Given the description of an element on the screen output the (x, y) to click on. 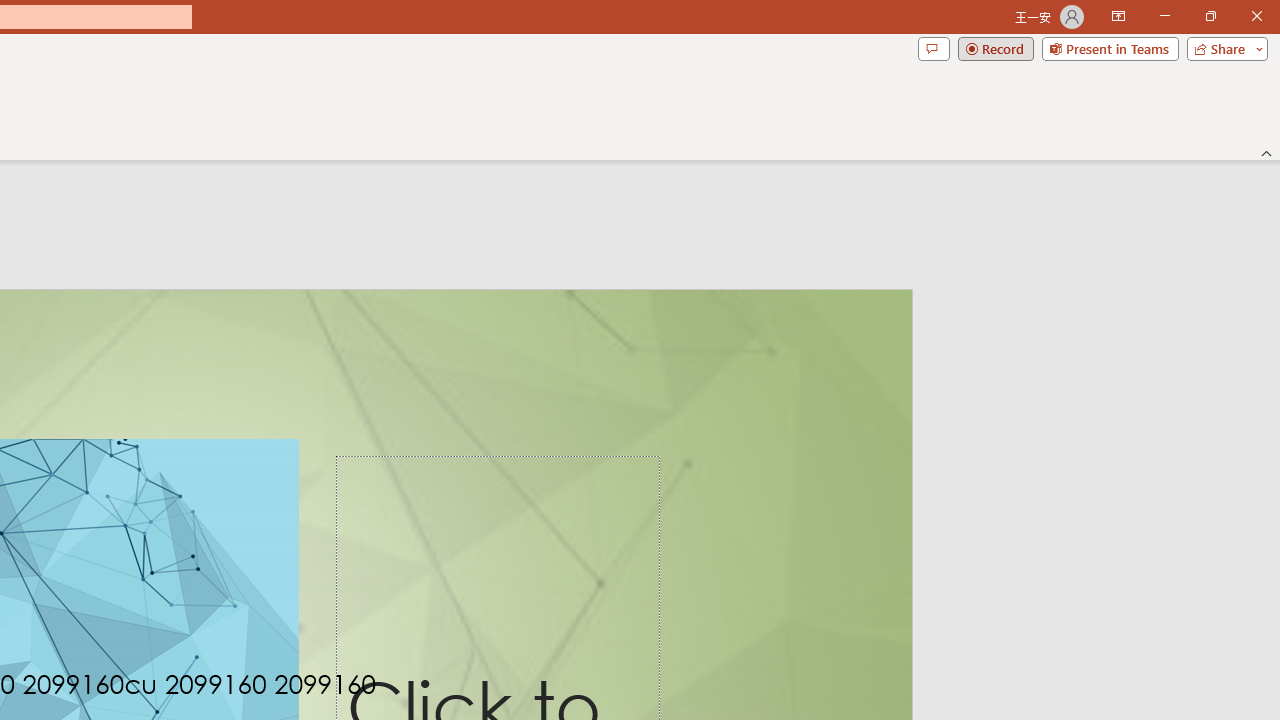
Present in Teams (1109, 48)
Minimize (1164, 16)
Collapse the Ribbon (1267, 152)
Share (1223, 48)
Restore Down (1210, 16)
Close (1256, 16)
Ribbon Display Options (1118, 16)
Comments (933, 48)
